Given the description of an element on the screen output the (x, y) to click on. 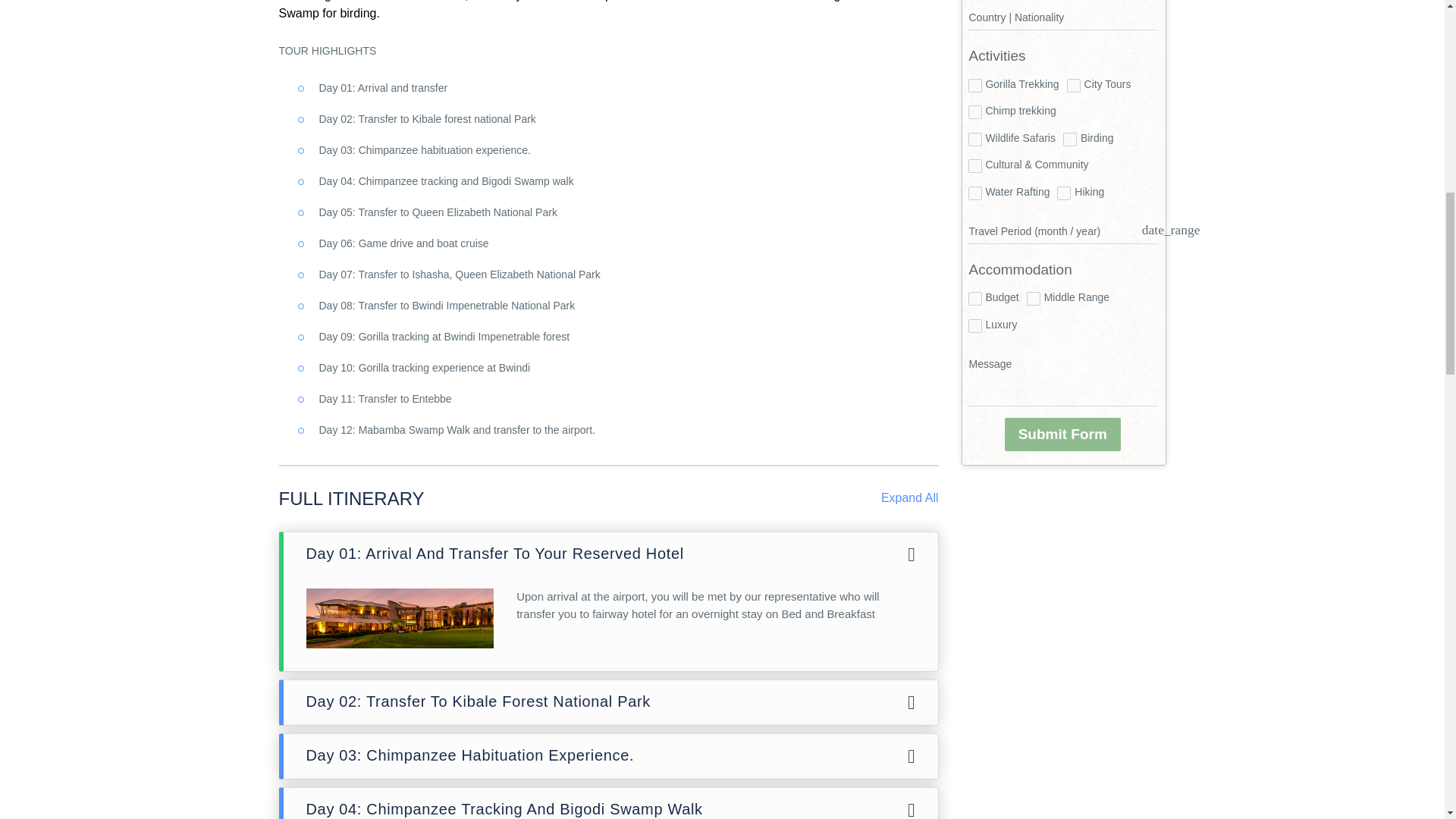
Middle Range (1033, 298)
Water Rafting (974, 192)
Chimp trekking (974, 111)
Birding (1069, 139)
Wildlife Safaris (974, 139)
Budget  (974, 298)
Gorilla Trekking (974, 85)
Luxury (974, 325)
City Tours (1073, 85)
Hiking (1063, 192)
